Given the description of an element on the screen output the (x, y) to click on. 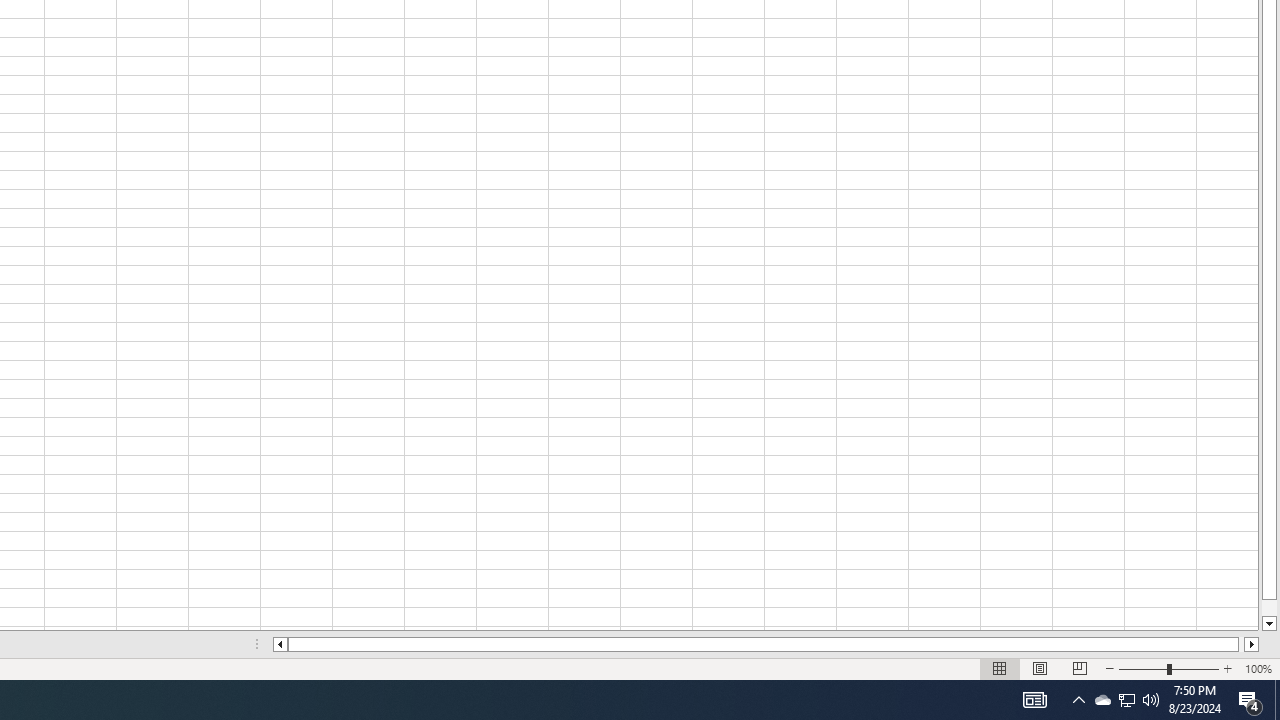
Page right (1241, 644)
Class: NetUIScrollBar (765, 644)
Page down (1268, 607)
Column right (1252, 644)
Zoom (1168, 668)
Line down (1268, 624)
Column left (279, 644)
Zoom Out (1142, 668)
Normal (1000, 668)
Page Break Preview (1079, 668)
Page Layout (1039, 668)
Zoom In (1227, 668)
